Given the description of an element on the screen output the (x, y) to click on. 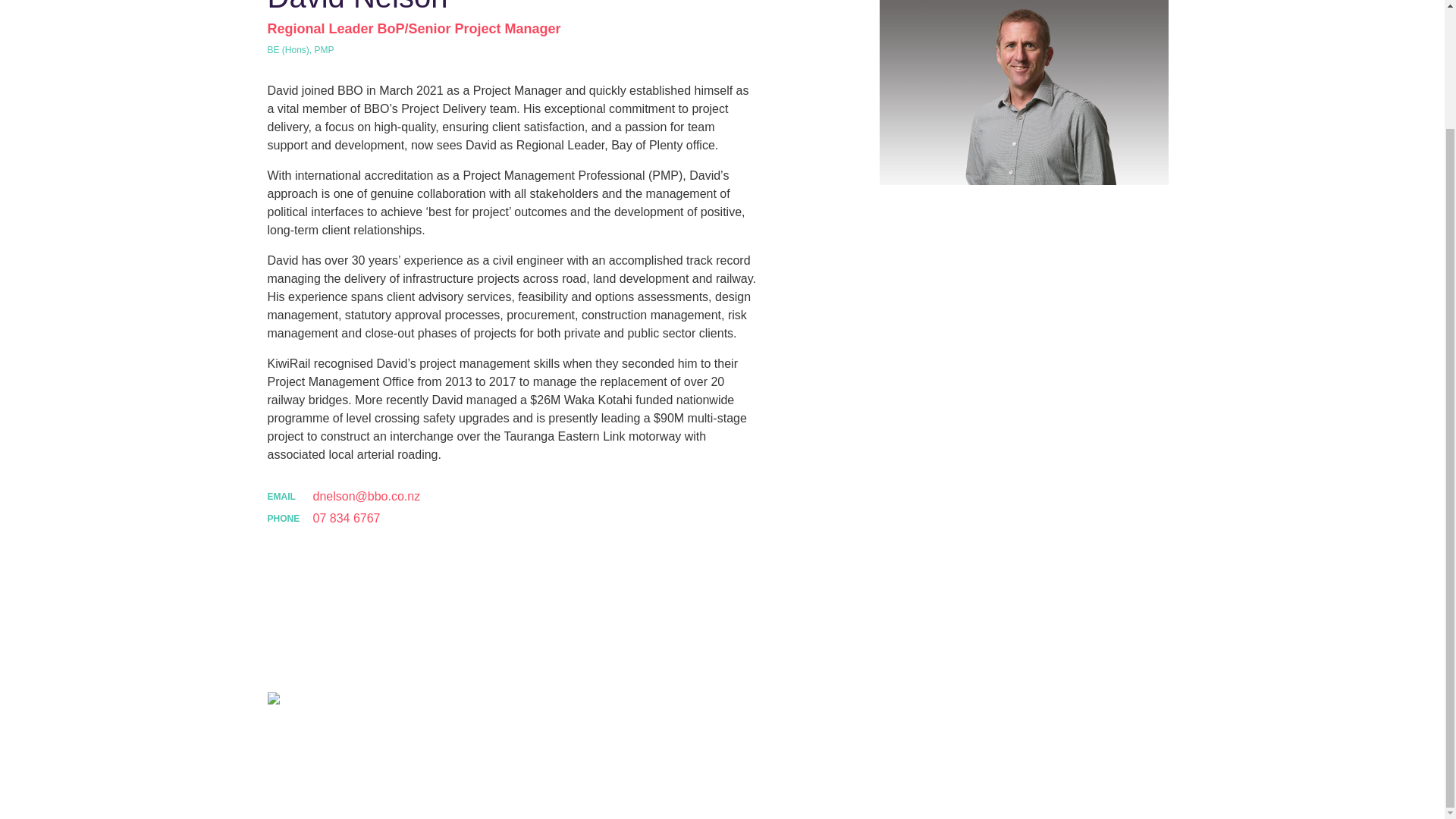
back to top (1145, 751)
CAREERS (1057, 700)
Privacy Policy (572, 751)
SERVICES (760, 700)
ABOUT (670, 700)
CONTACT (1145, 700)
TEAM (973, 700)
07 834 6767 (346, 518)
OUR PROJECTS (872, 700)
